Given the description of an element on the screen output the (x, y) to click on. 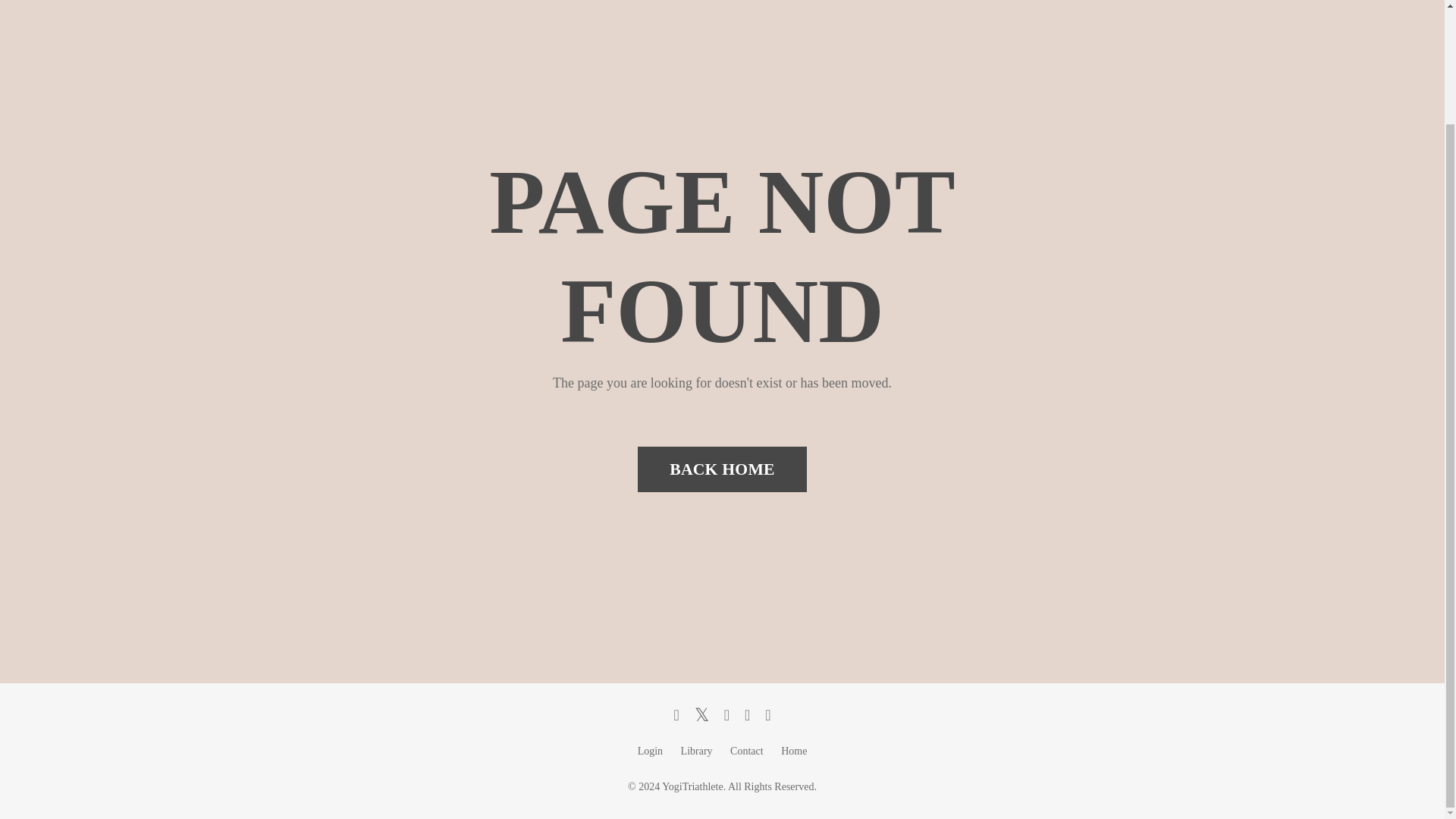
Contact (746, 750)
BACK HOME (721, 469)
Library (697, 750)
Login (649, 750)
Home (793, 750)
